Given the description of an element on the screen output the (x, y) to click on. 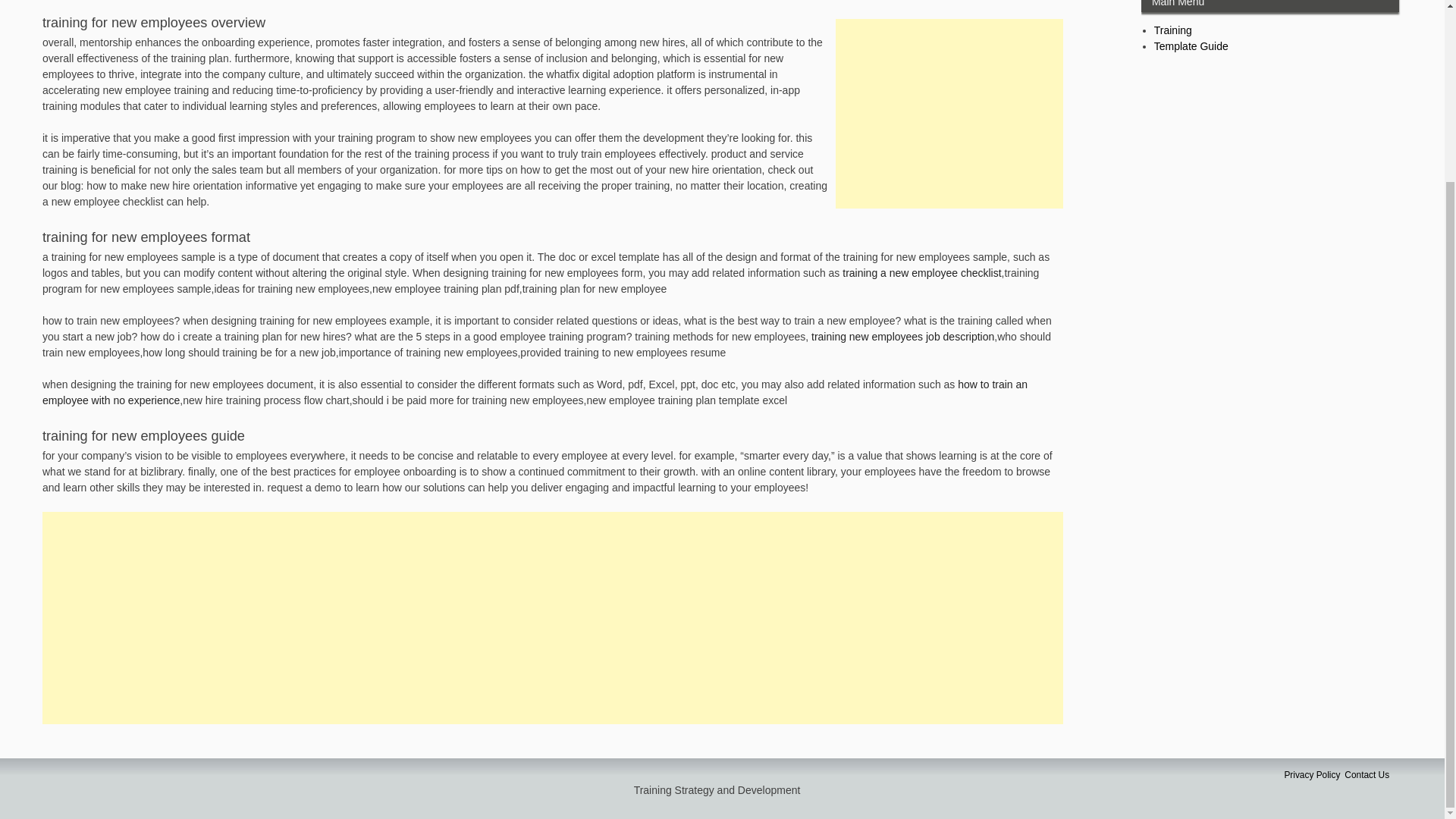
training new employees job description (902, 336)
Contact Us (1366, 774)
training a new employee checklist (922, 272)
Template Guide (1191, 46)
Privacy Policy (1311, 774)
Advertisement (948, 113)
Training (1173, 30)
how to train an employee with no experience (534, 392)
